Given the description of an element on the screen output the (x, y) to click on. 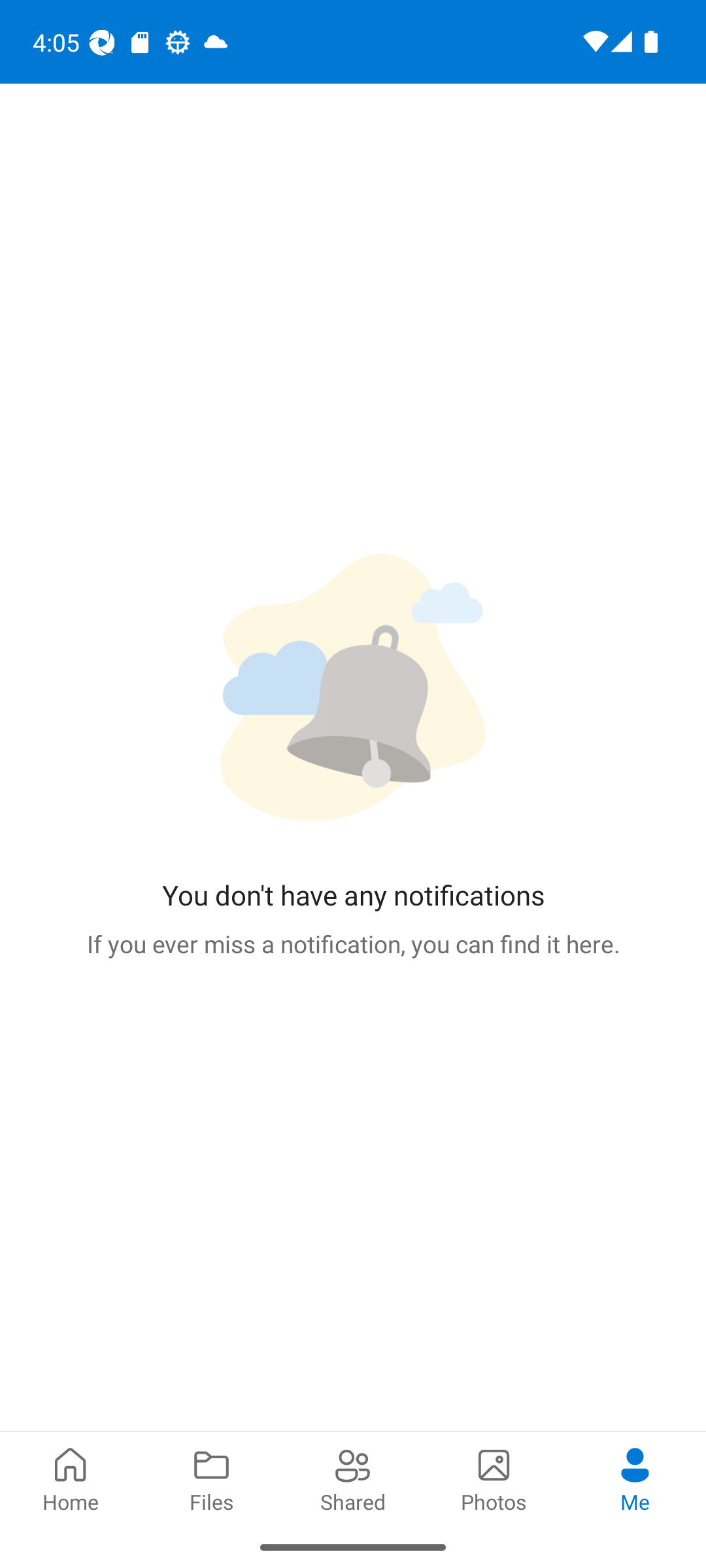
Home pivot Home (70, 1478)
Files pivot Files (211, 1478)
Shared pivot Shared (352, 1478)
Photos pivot Photos (493, 1478)
